Given the description of an element on the screen output the (x, y) to click on. 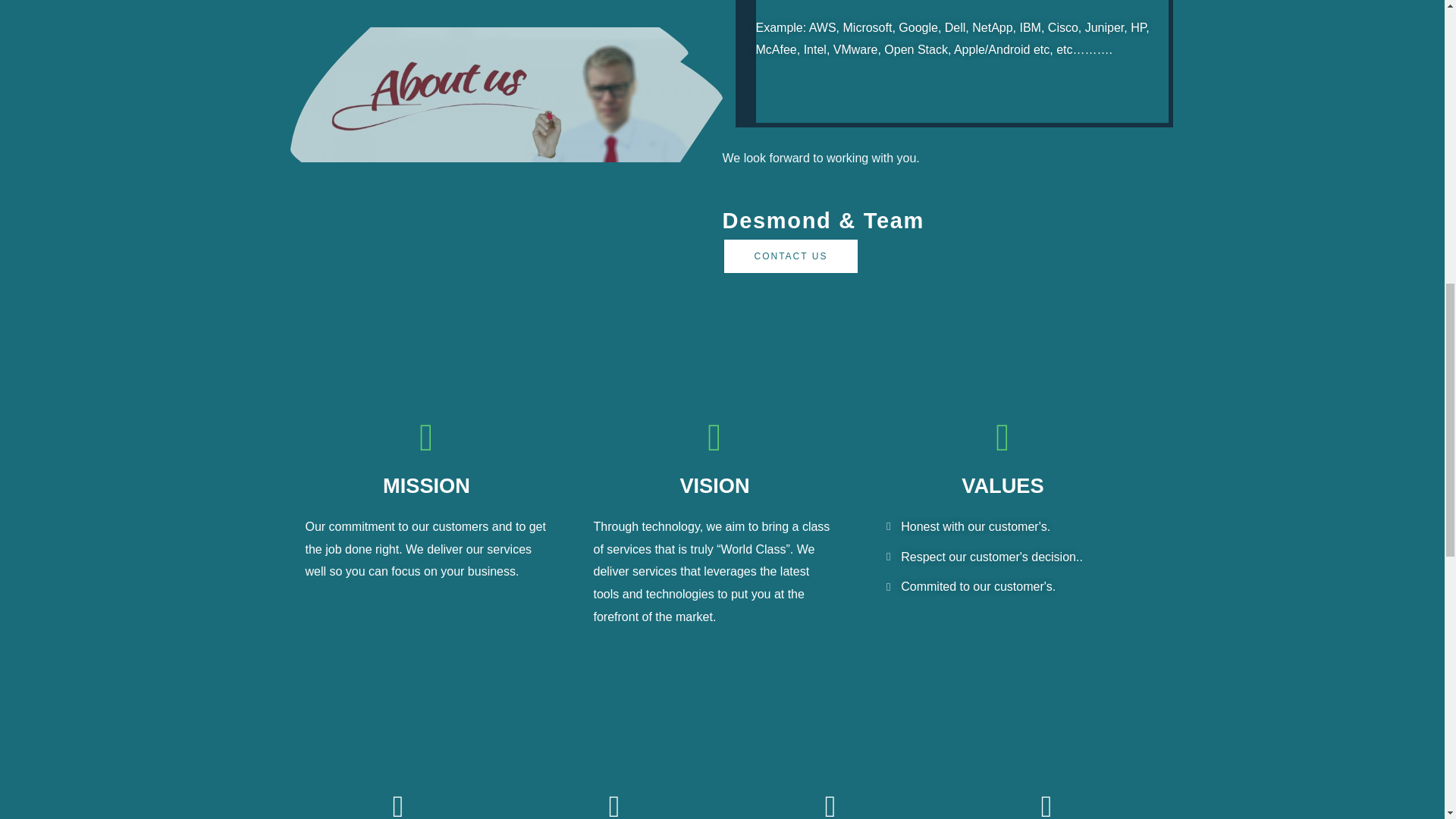
CONTACT US (790, 256)
